Given the description of an element on the screen output the (x, y) to click on. 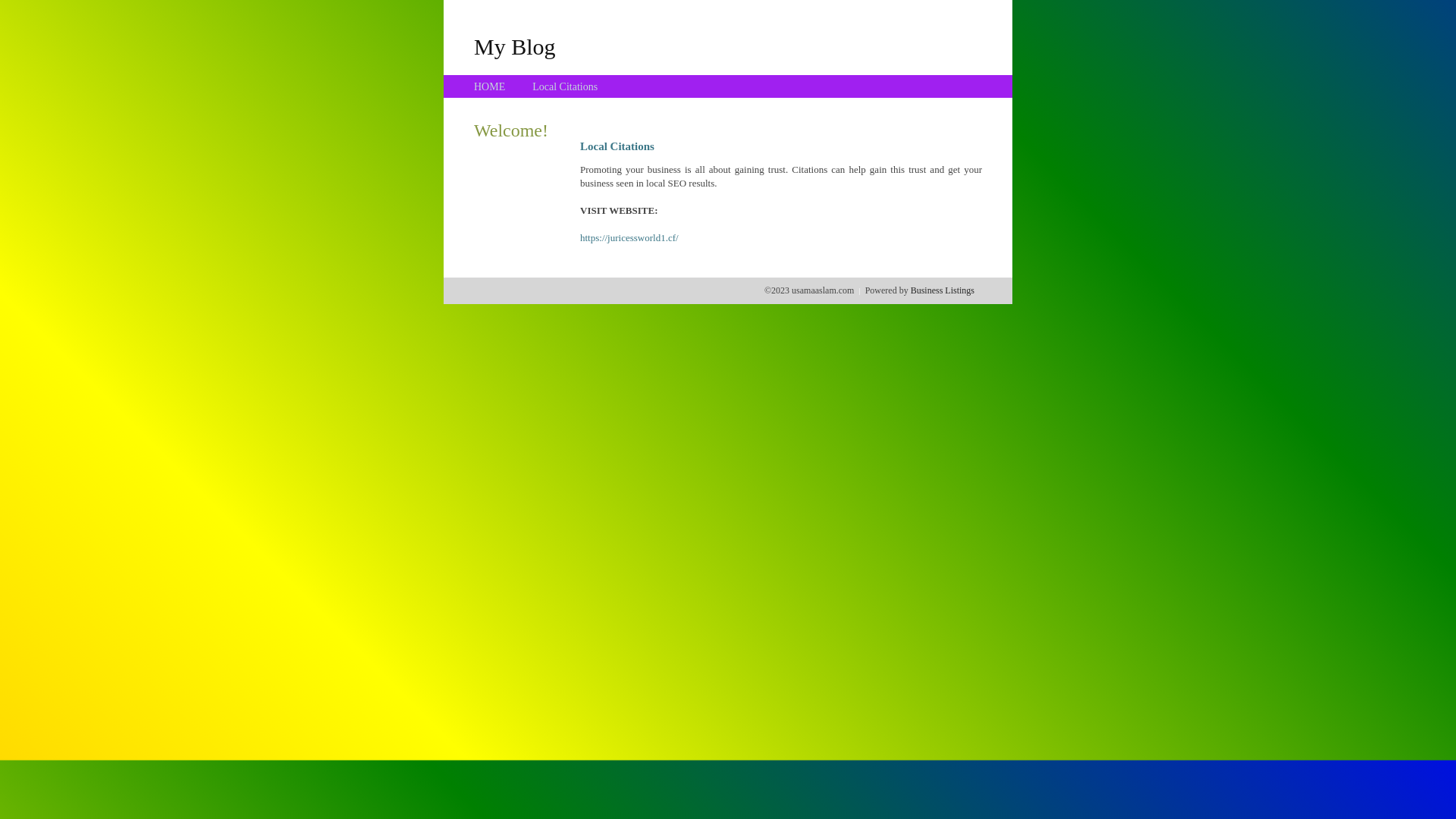
My Blog Element type: text (514, 46)
Local Citations Element type: text (564, 86)
Business Listings Element type: text (942, 290)
HOME Element type: text (489, 86)
https://juricessworld1.cf/ Element type: text (629, 237)
